Given the description of an element on the screen output the (x, y) to click on. 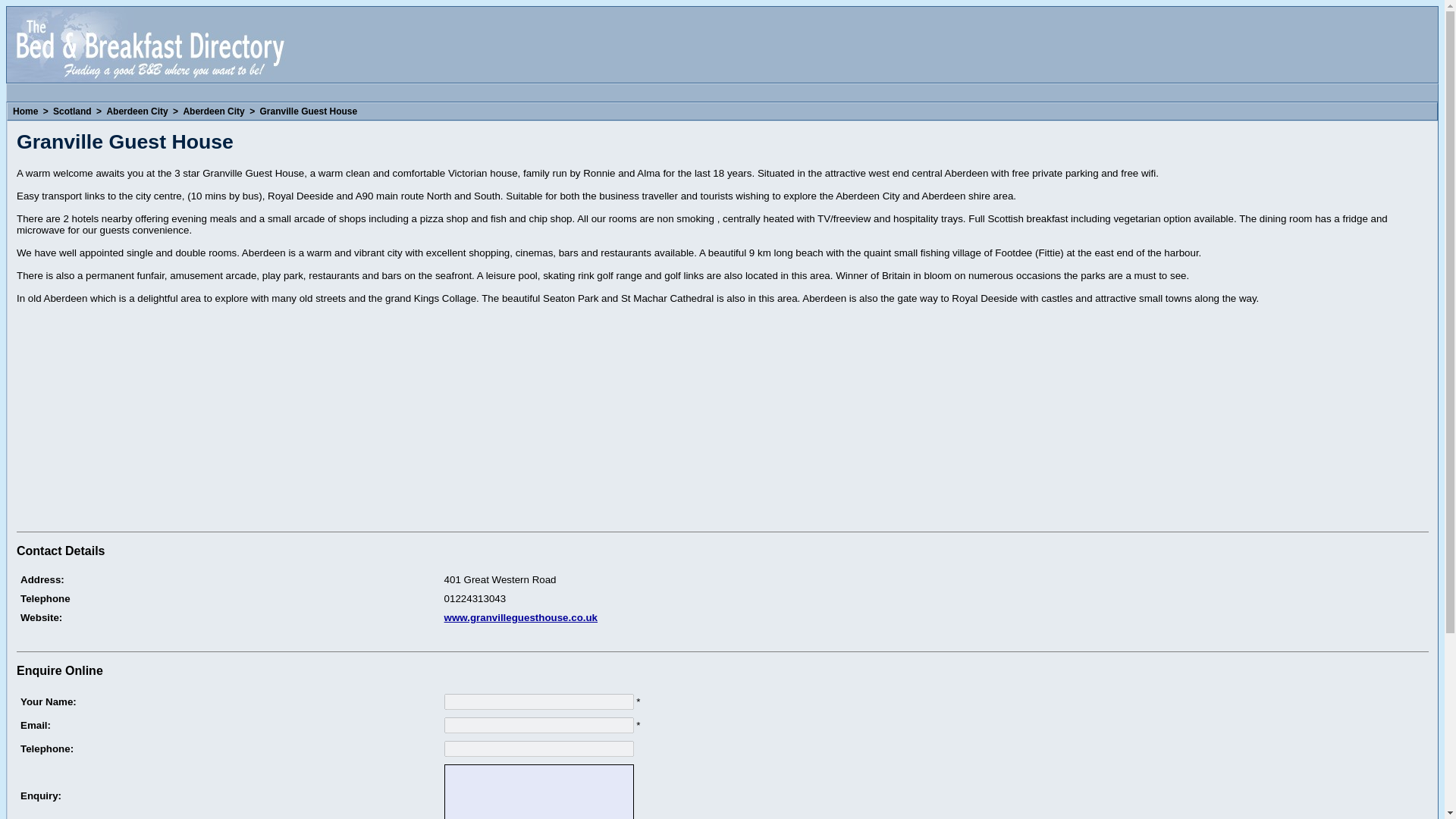
www.granvilleguesthouse.co.uk (520, 617)
Bed and Breakfast in Scotland (72, 110)
Advertisement (143, 419)
Aberdeen City (213, 110)
Granville Guest House (308, 110)
Aberdeen City Bed and Breakfast (228, 636)
Bed and Breakfast in Aberdeen City (136, 110)
Granville Guest House (308, 110)
Aberdeen City (136, 110)
Bed and Breakfast in Aberdeen City (213, 110)
